Given the description of an element on the screen output the (x, y) to click on. 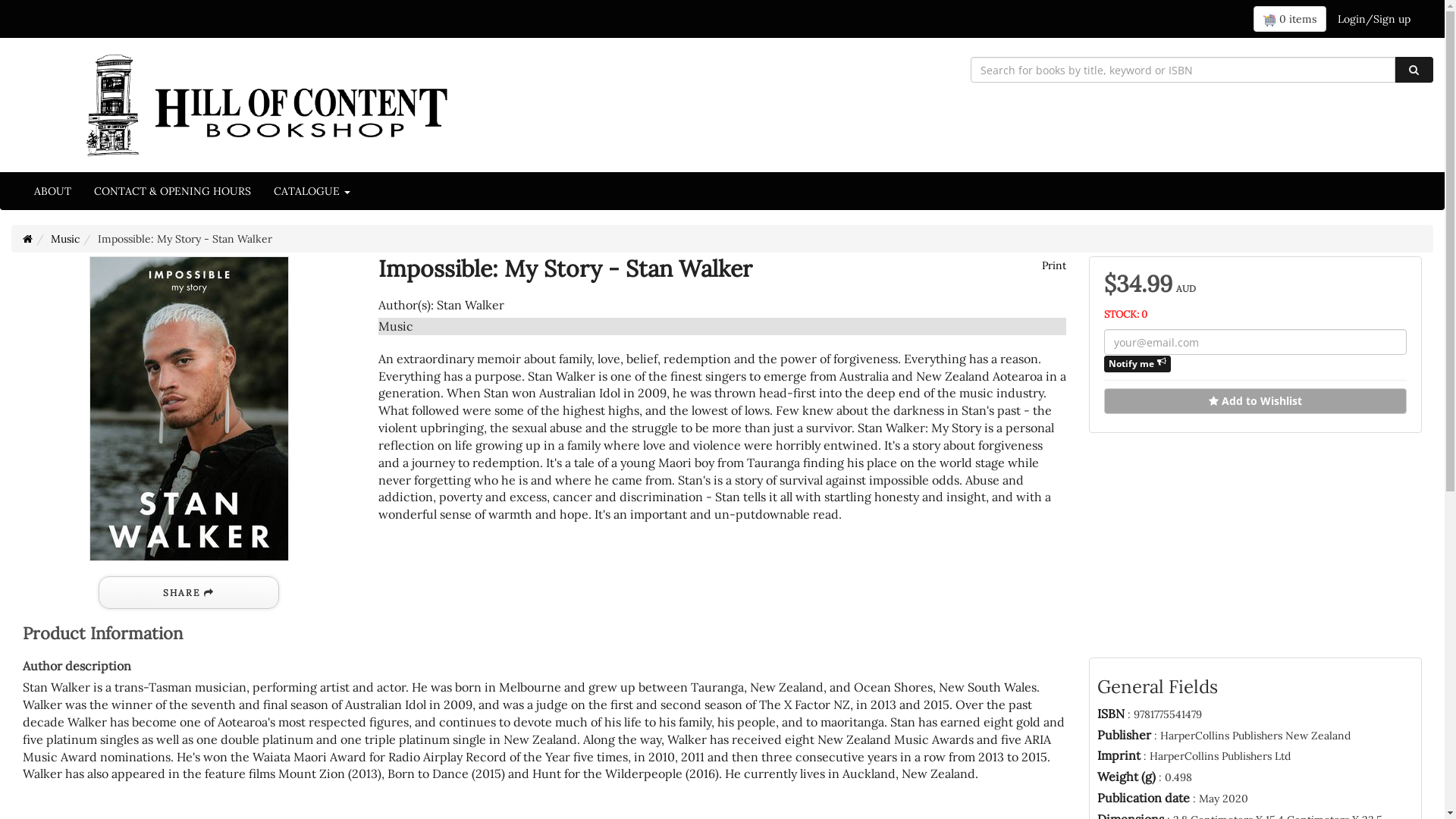
Impossible: My Story - Stan Walker Element type: hover (188, 408)
Music Element type: text (395, 325)
Stan Walker Element type: text (470, 304)
Add to Wishlist Element type: text (1255, 401)
SHARE Element type: text (188, 592)
Music Element type: text (64, 238)
CATALOGUE  Element type: text (311, 191)
0 items Element type: text (1289, 18)
Login/Sign up Element type: text (1373, 18)
 Print Element type: text (1052, 265)
ABOUT Element type: text (52, 191)
Notify me Element type: text (1137, 363)
0 items Element type: text (1289, 18)
CONTACT & OPENING HOURS Element type: text (172, 191)
